Given the description of an element on the screen output the (x, y) to click on. 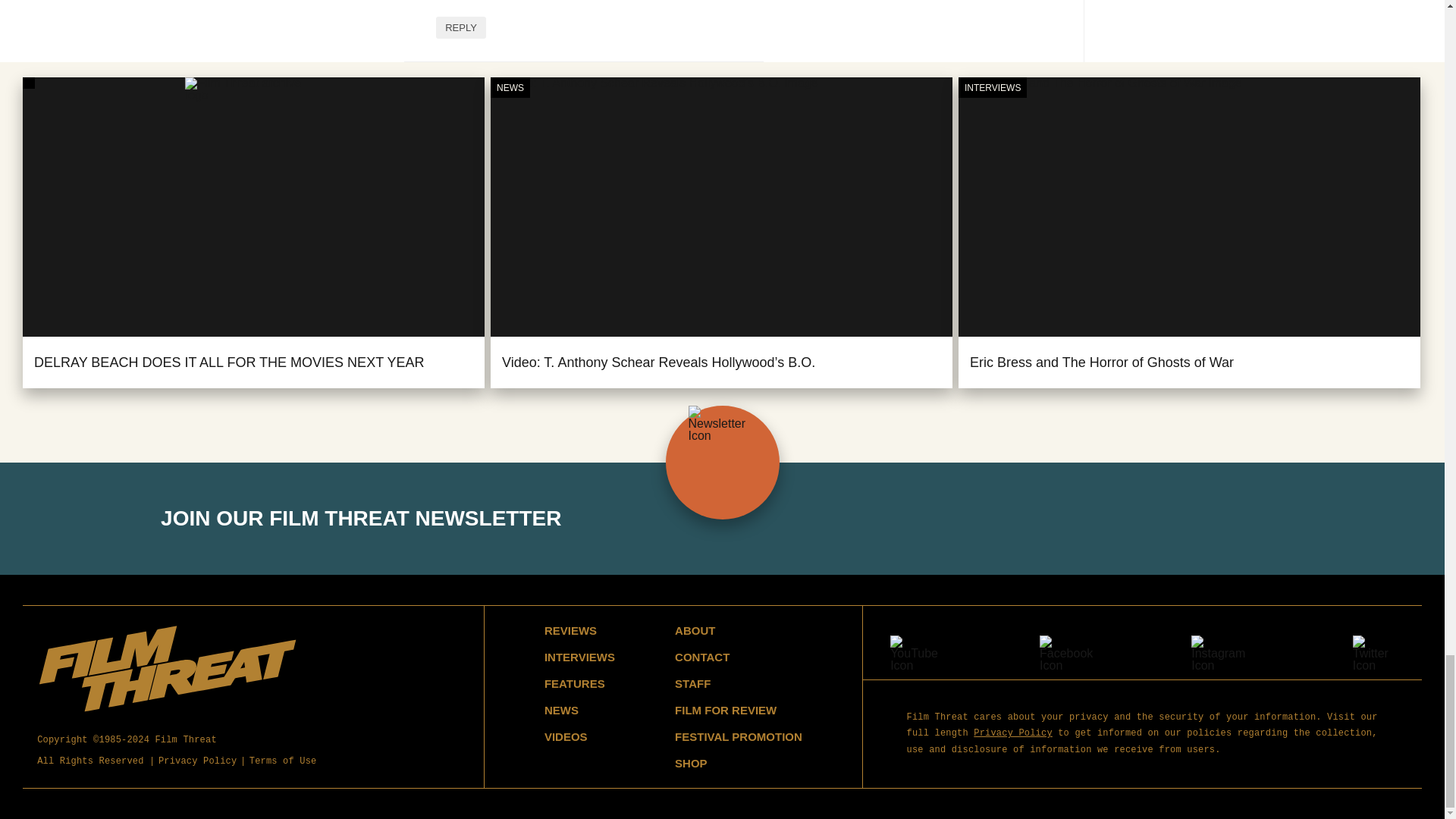
NEWS (510, 87)
Interviews (991, 87)
News (510, 87)
DELRAY BEACH DOES IT ALL FOR THE MOVIES NEXT YEAR (229, 362)
INTERVIEWS (991, 87)
REPLY (460, 27)
